Given the description of an element on the screen output the (x, y) to click on. 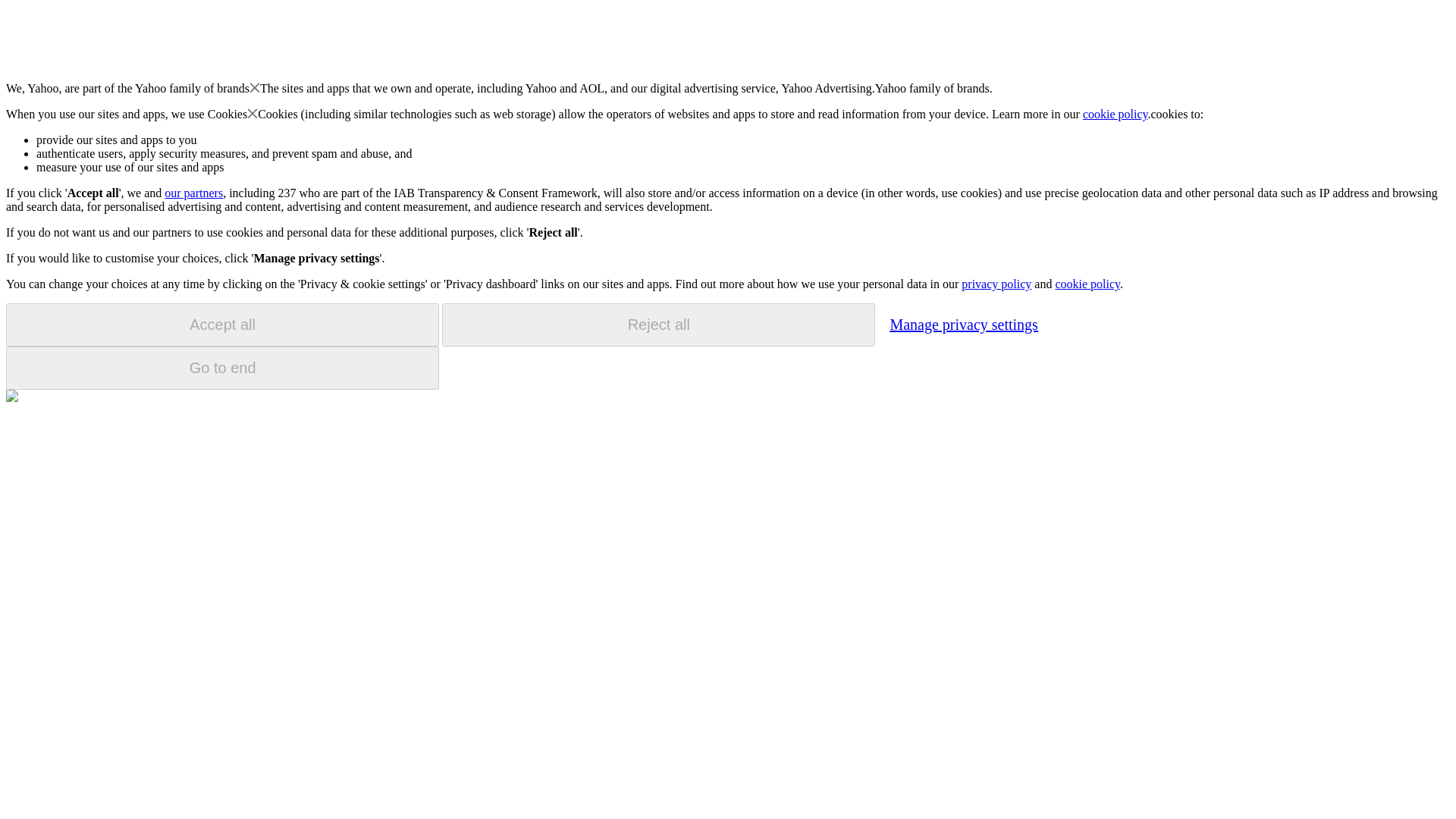
Reject all (658, 324)
cookie policy (1086, 283)
Manage privacy settings (963, 323)
cookie policy (1115, 113)
privacy policy (995, 283)
our partners (193, 192)
Accept all (222, 324)
Go to end (222, 367)
